Given the description of an element on the screen output the (x, y) to click on. 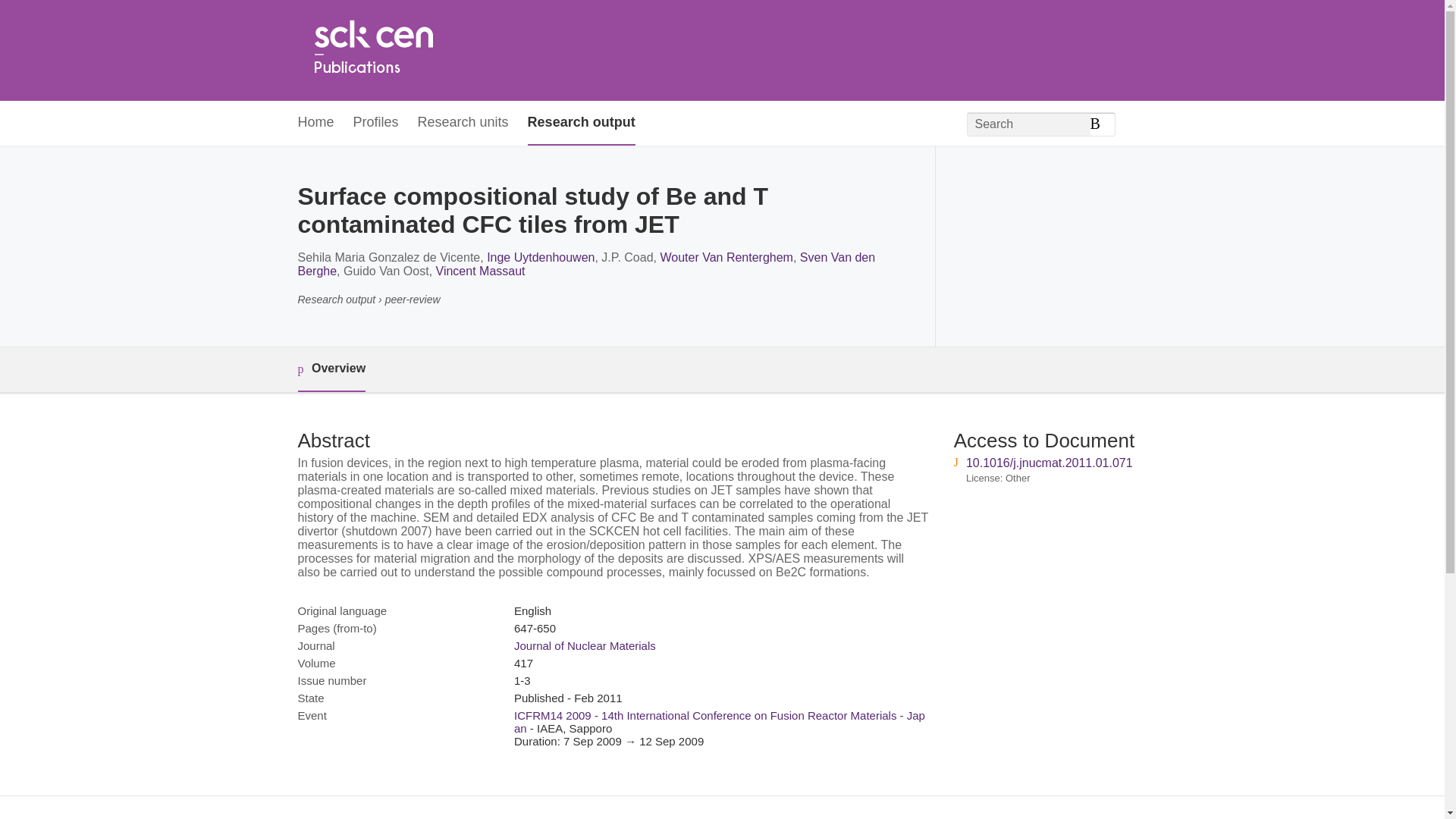
Vincent Massaut (480, 270)
Wouter Van Renterghem (726, 256)
Research units (462, 122)
Profiles (375, 122)
Overview (331, 369)
Sven Van den Berghe (586, 263)
Research output (580, 122)
Home (372, 50)
Journal of Nuclear Materials (584, 645)
Inge Uytdenhouwen (540, 256)
